Given the description of an element on the screen output the (x, y) to click on. 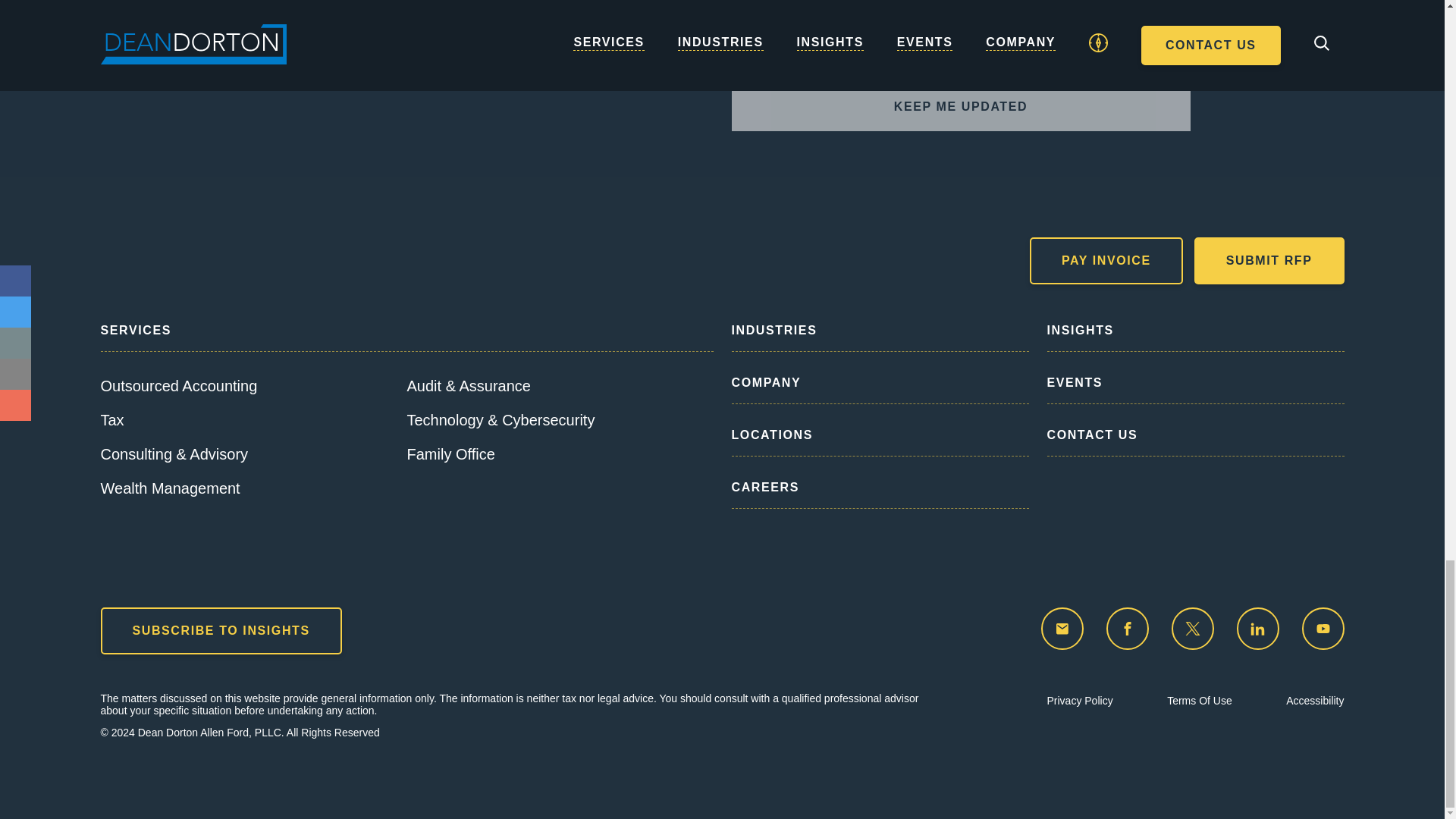
Dean Dorton - CPAs and Advisors on YouTube (1322, 628)
Dean Dorton - CPAs and Advisors on LinkedIn (1257, 628)
Dean Dorton - CPAs and Advisors on Facebook (1126, 628)
Dean Dorton - CPAs and Advisors on twitter (1191, 628)
Dean Dorton - CPAs and Advisors on email (1062, 628)
